Given the description of an element on the screen output the (x, y) to click on. 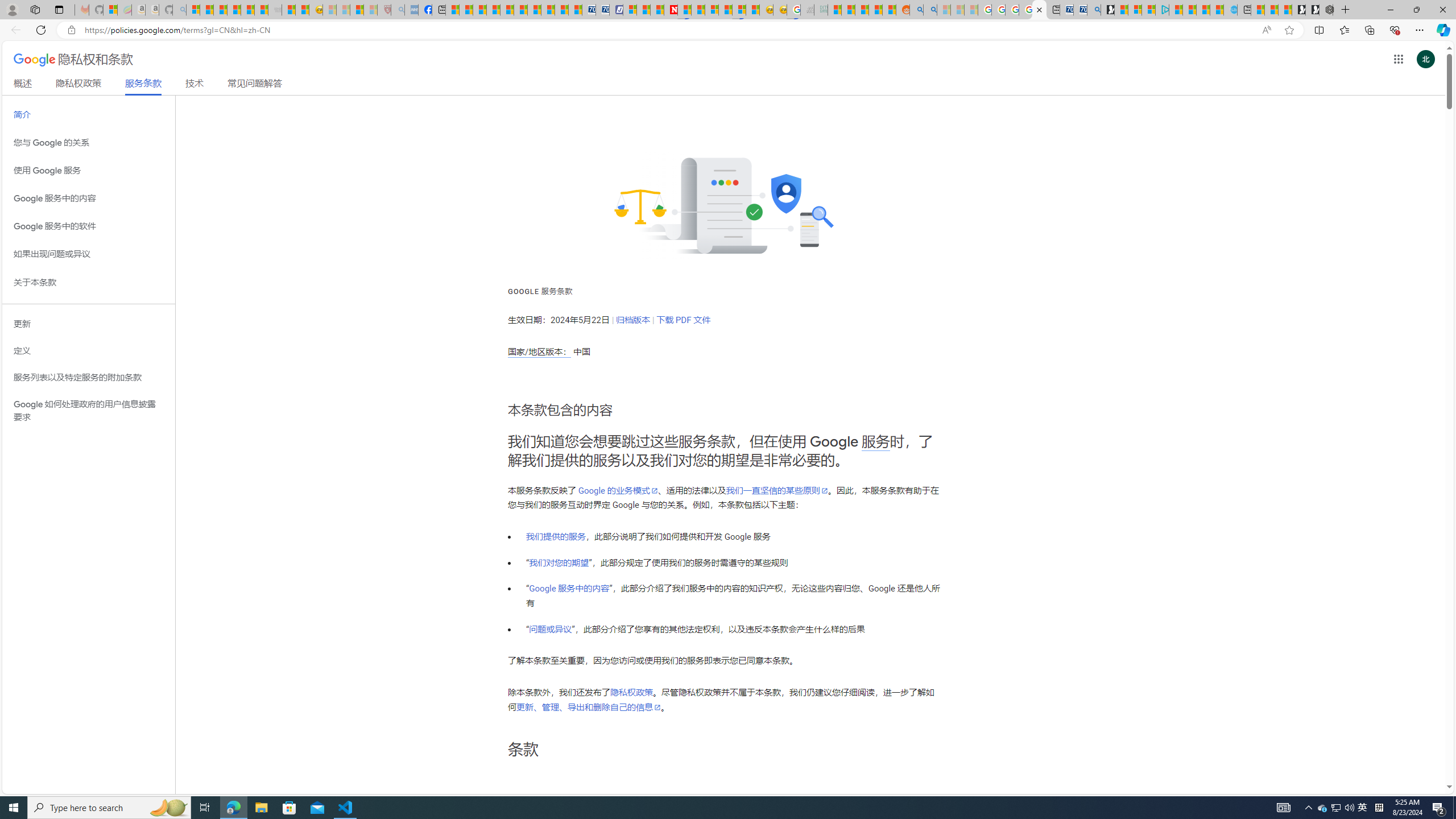
12 Popular Science Lies that Must be Corrected - Sleeping (369, 9)
Climate Damage Becomes Too Severe To Reverse (493, 9)
